Given the description of an element on the screen output the (x, y) to click on. 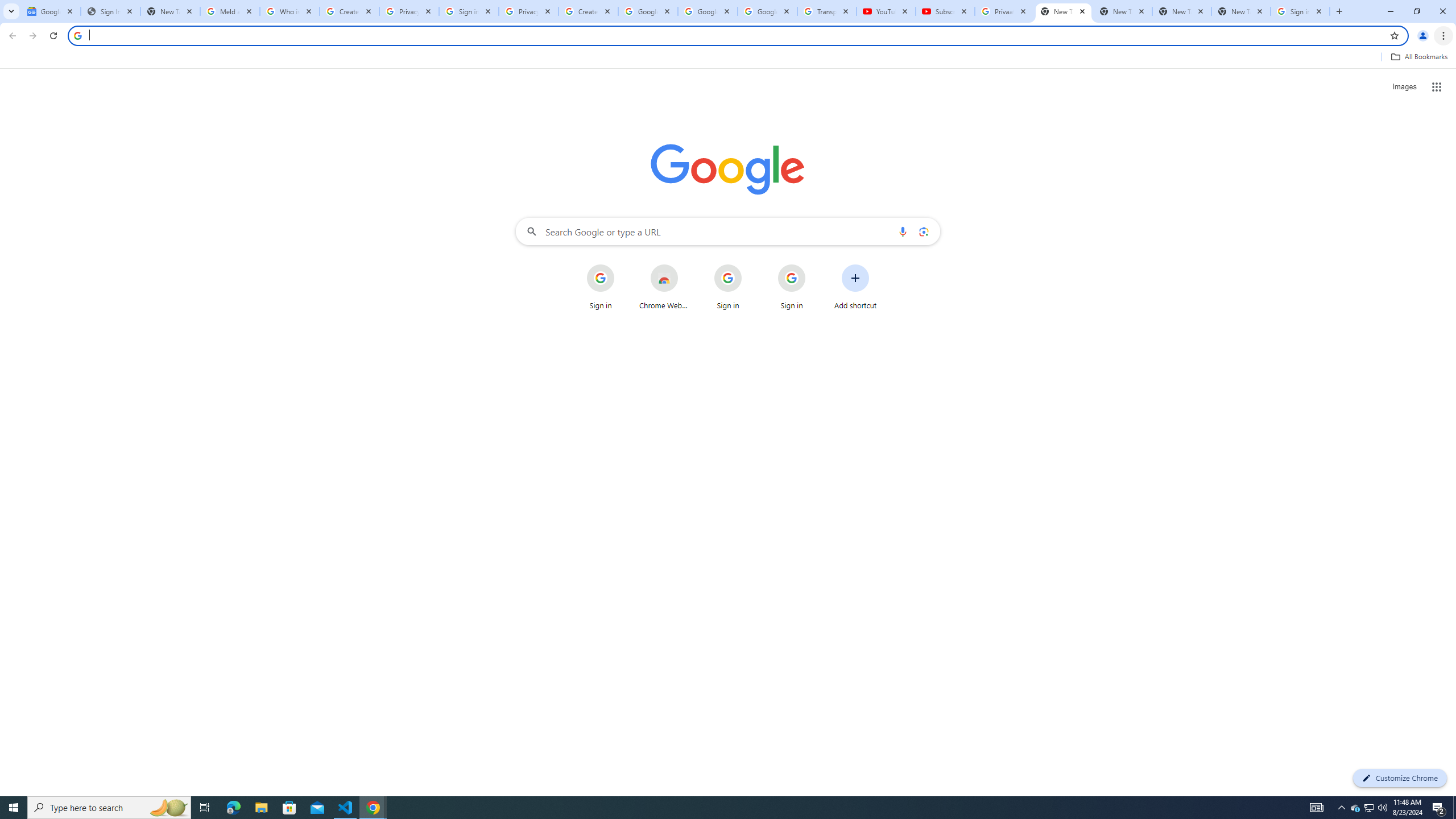
More actions for Sign in shortcut (814, 265)
